Given the description of an element on the screen output the (x, y) to click on. 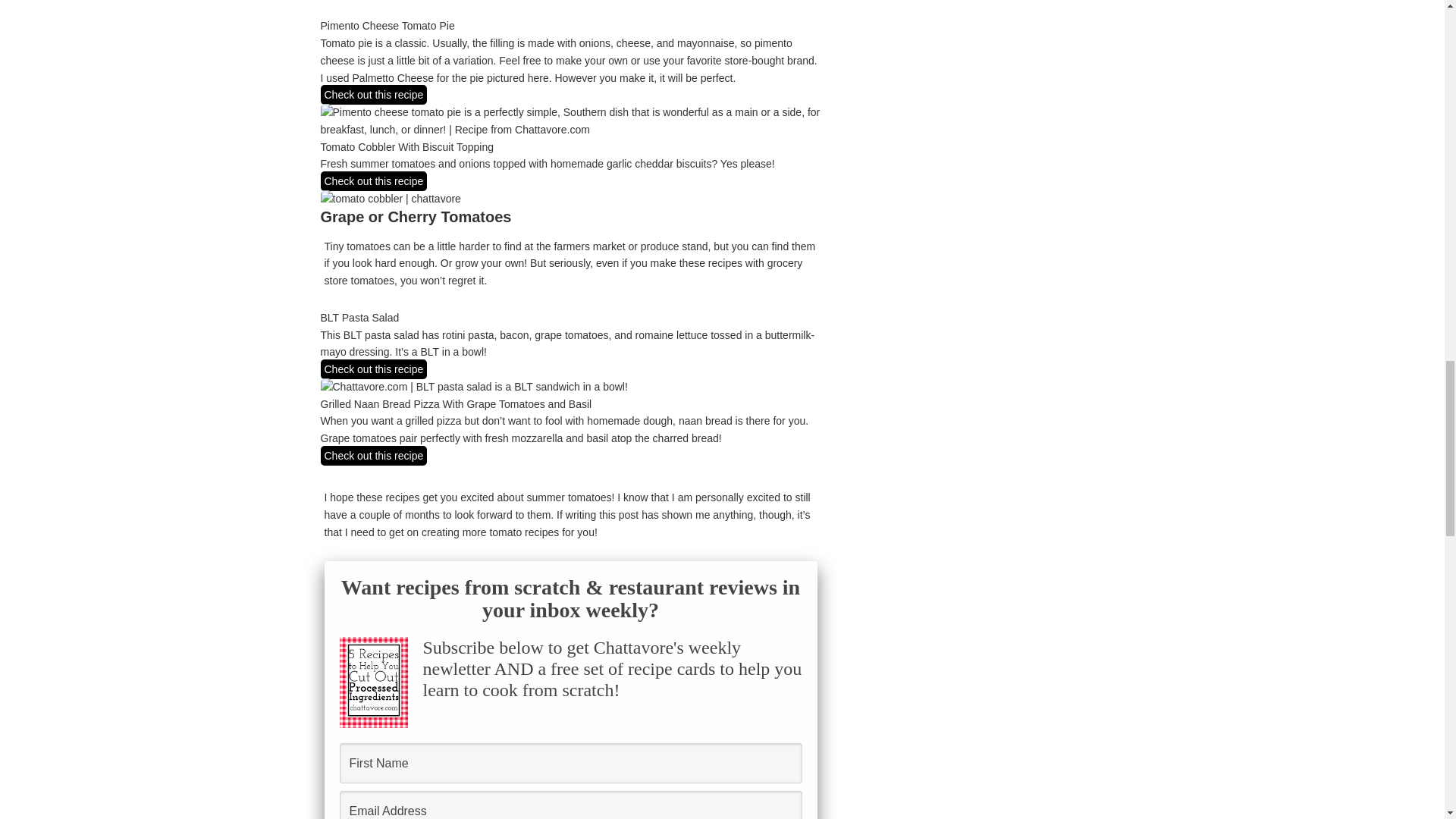
Check out this recipe (373, 369)
Check out this recipe (373, 94)
Check out this recipe (373, 180)
Check out this recipe (373, 455)
